Given the description of an element on the screen output the (x, y) to click on. 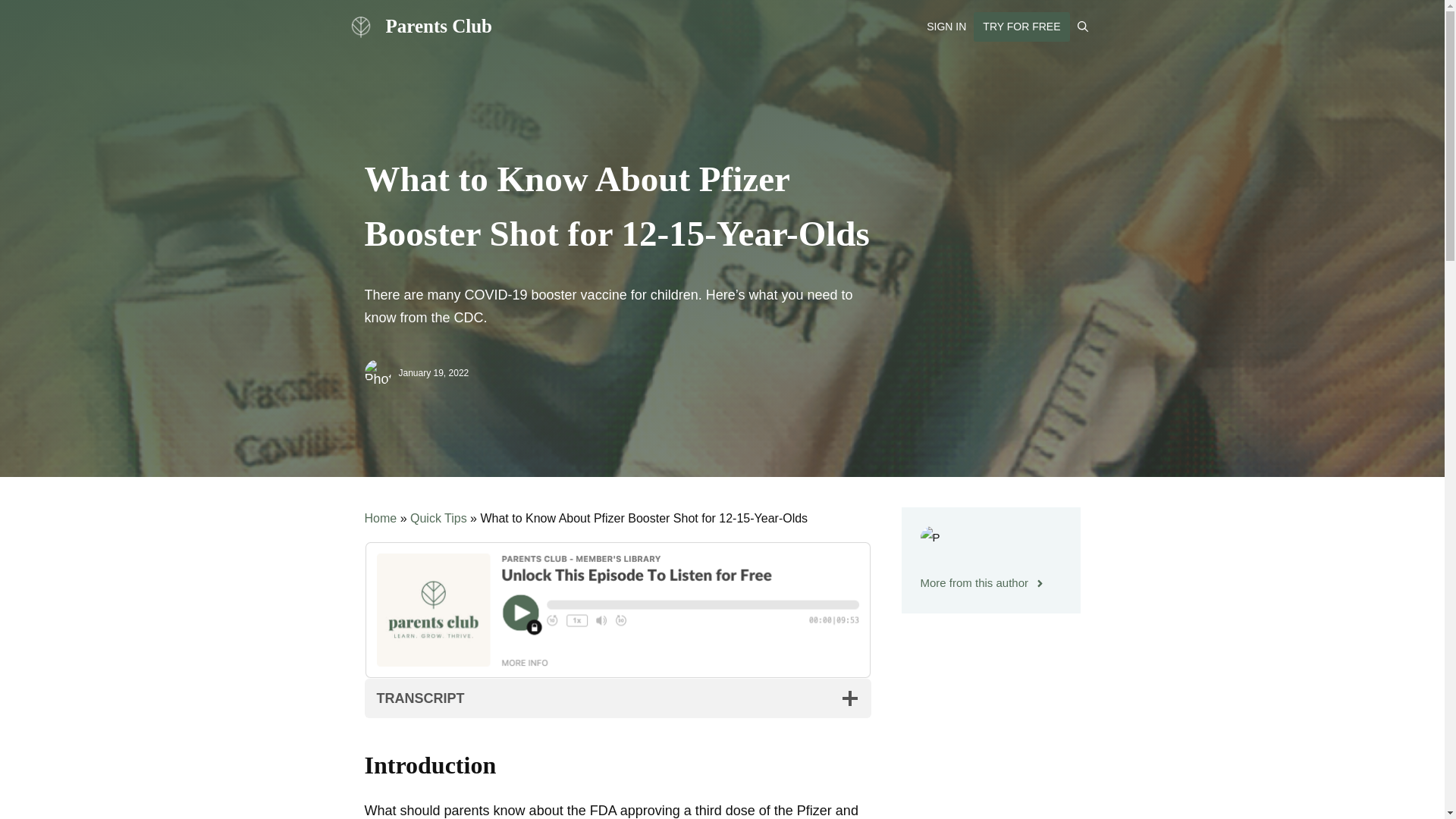
Parents Club (360, 25)
Parents Club (438, 25)
TRANSCRIPT (617, 698)
Quick Tips (438, 517)
Home (380, 517)
TRY FOR FREE (1021, 26)
More from this author (982, 582)
SIGN IN (946, 26)
Parents Club (360, 26)
